Given the description of an element on the screen output the (x, y) to click on. 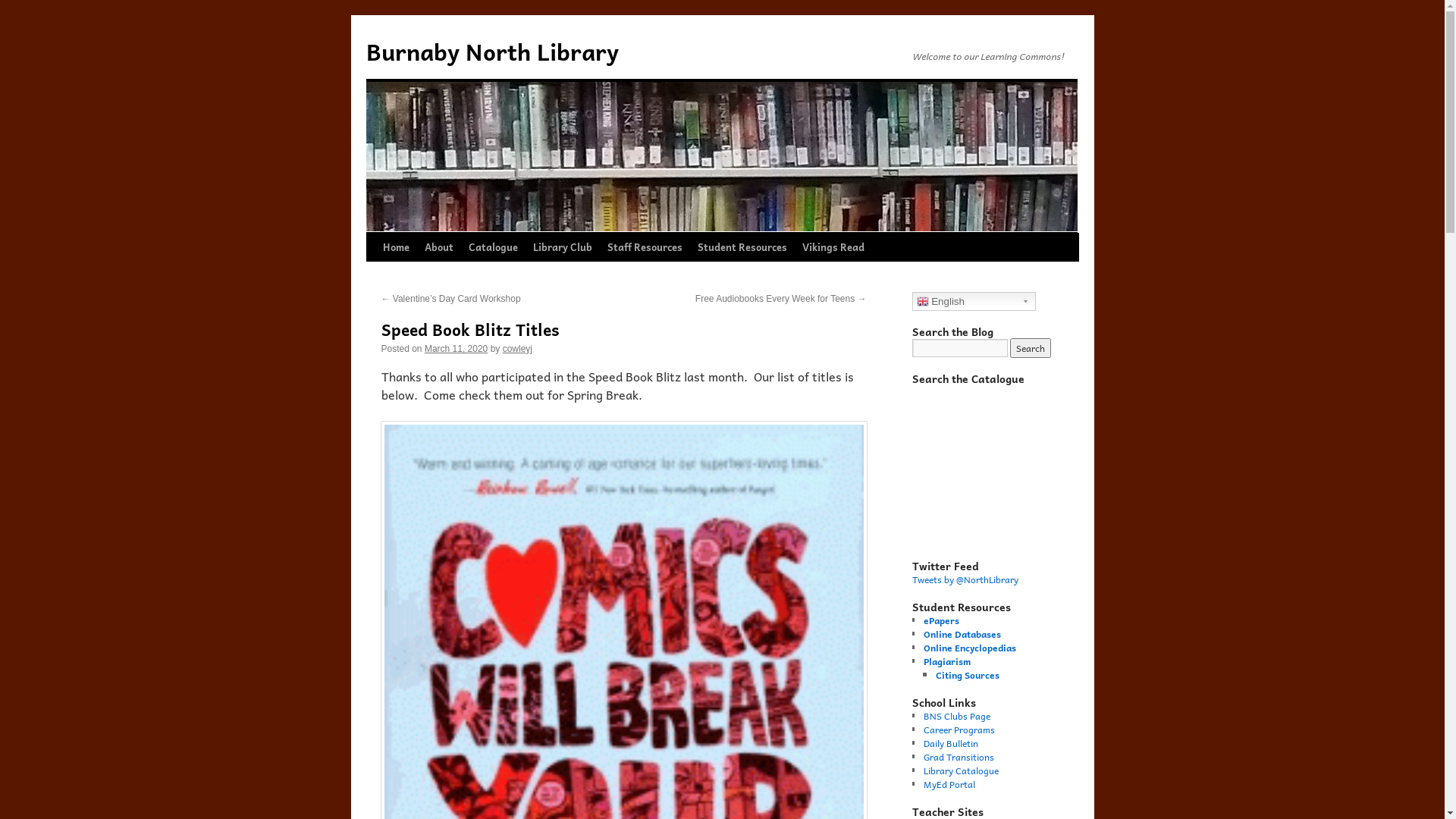
Staff Resources Element type: text (644, 246)
Library Club Element type: text (561, 246)
Library Catalogue Element type: text (960, 770)
Online Encyclopedias Element type: text (969, 647)
Student Resources Element type: text (742, 246)
BNS Clubs Page Element type: text (956, 715)
ePapers Element type: text (941, 619)
Online Databases Element type: text (962, 633)
March 11, 2020 Element type: text (455, 348)
Skip to content Element type: text (372, 275)
Grad Transitions Element type: text (958, 756)
Catalogue Element type: text (493, 246)
Vikings Read Element type: text (833, 246)
Home Element type: text (395, 246)
Daily Bulletin Element type: text (950, 742)
Search Element type: text (1030, 347)
Burnaby North Library Element type: text (491, 50)
cowleyj Element type: text (517, 348)
English Element type: text (973, 300)
Plagiarism Element type: text (946, 660)
Citing Sources Element type: text (967, 674)
About Element type: text (439, 246)
Career Programs Element type: text (958, 729)
Tweets by @NorthLibrary Element type: text (964, 578)
MyEd Portal Element type: text (949, 783)
